Given the description of an element on the screen output the (x, y) to click on. 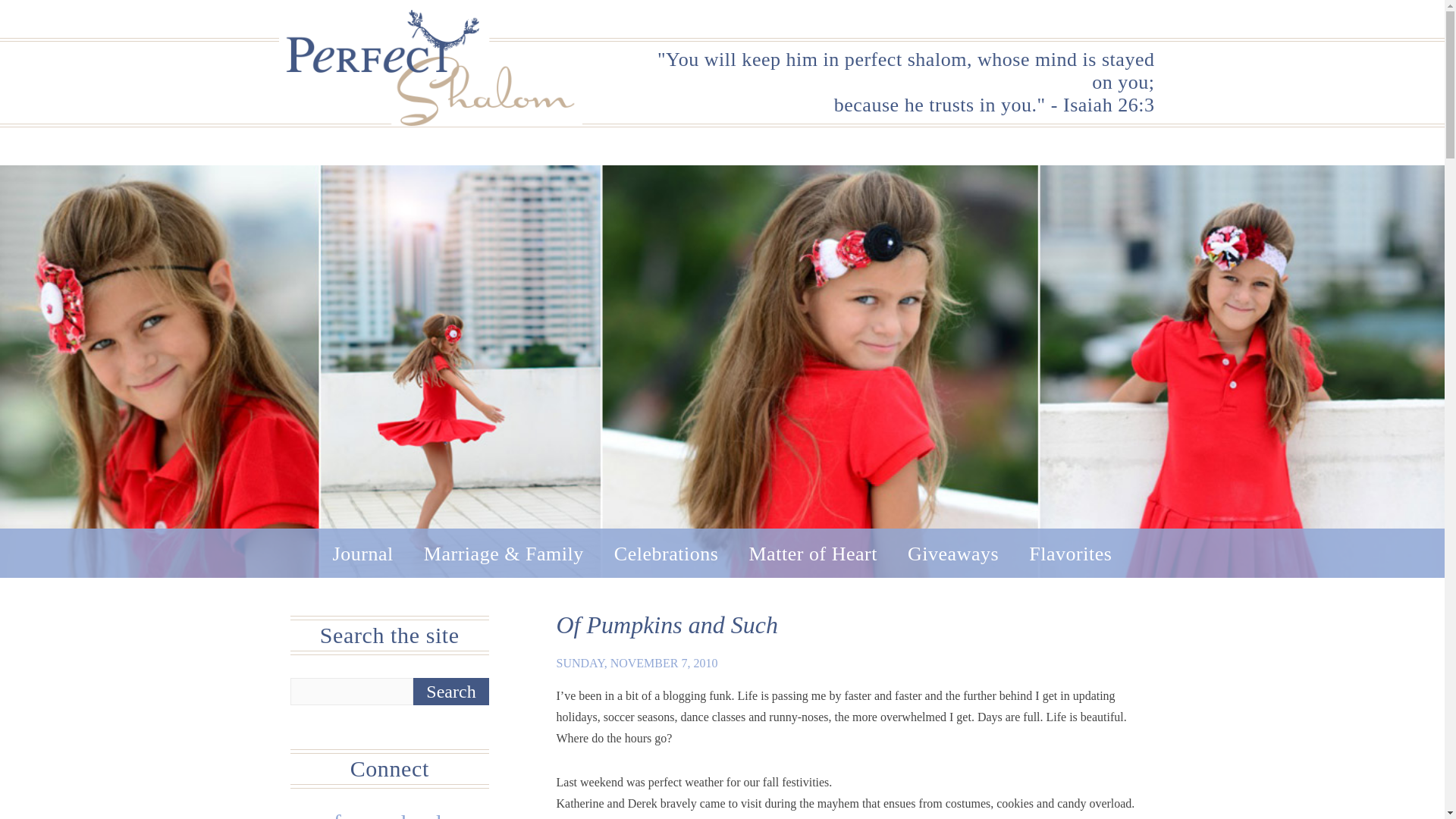
Of Pumpkins and Such (666, 624)
Journal (363, 553)
Celebrations (666, 553)
Search (451, 691)
Search (451, 691)
Giveaways (952, 553)
Matter of Heart (812, 553)
Flavorites (1070, 553)
